Given the description of an element on the screen output the (x, y) to click on. 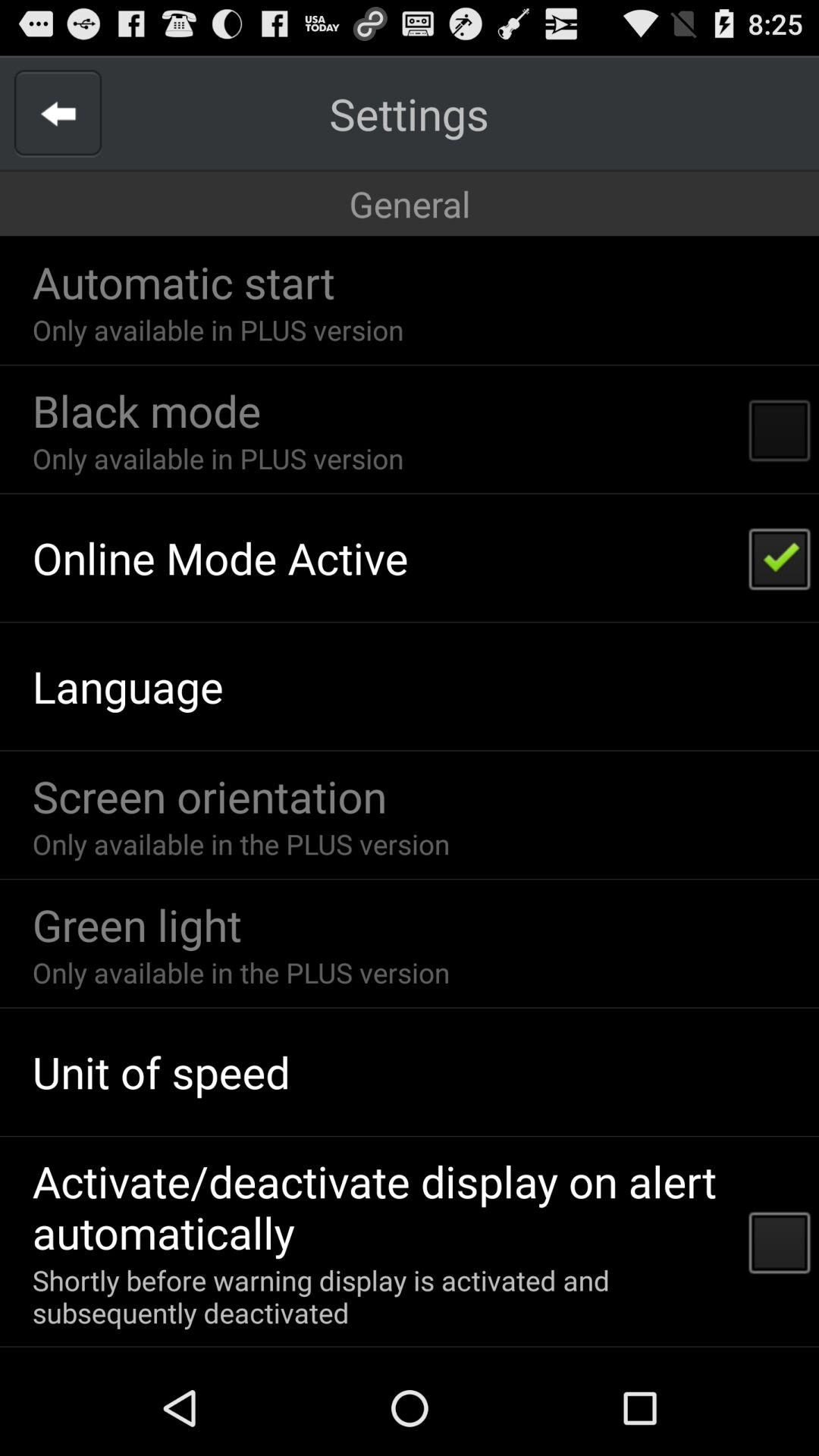
tap icon above the automatic start item (409, 203)
